Given the description of an element on the screen output the (x, y) to click on. 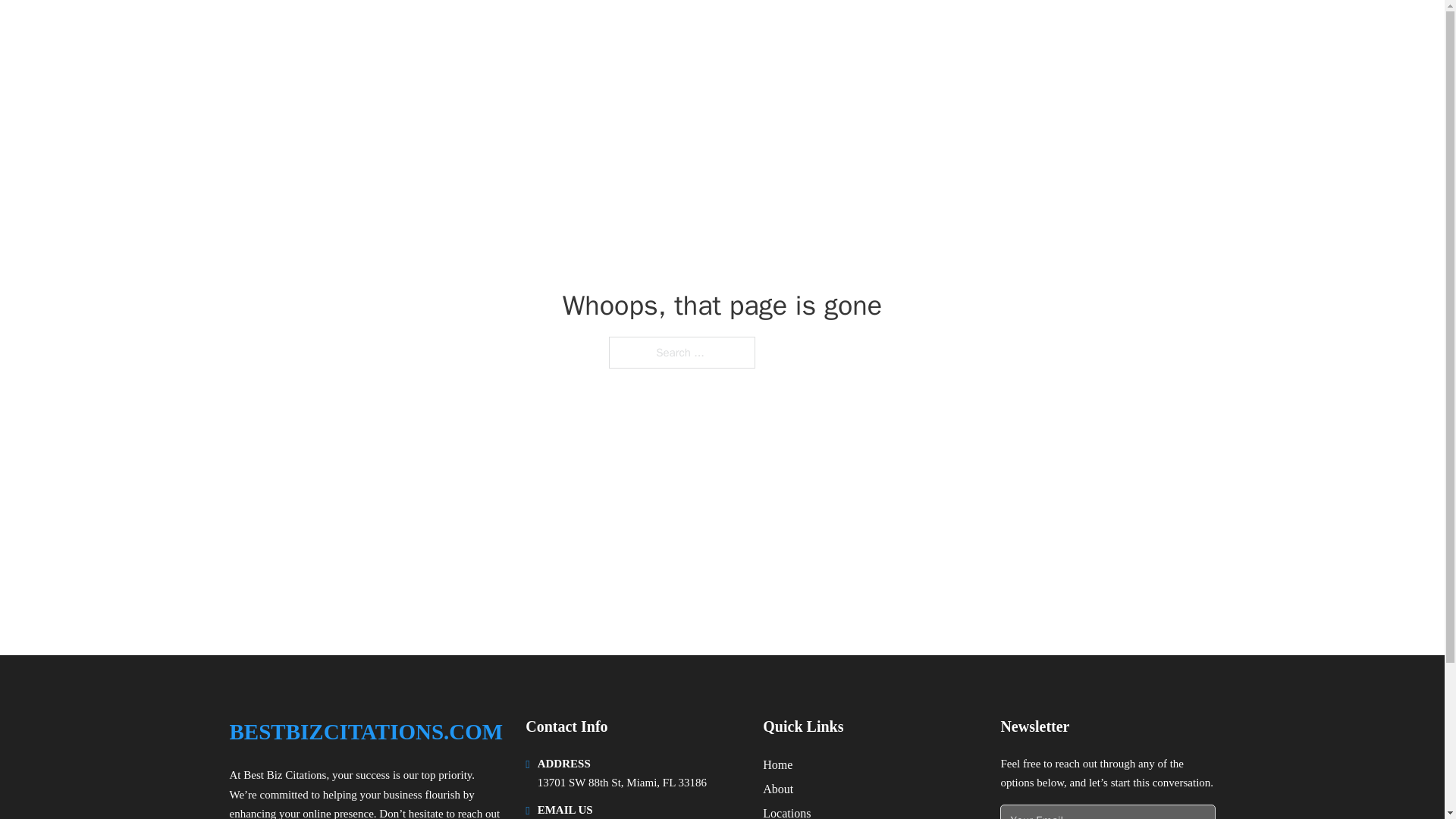
BESTBIZCITATIONS.COM (365, 732)
BESTBIZCITATIONS.COM (379, 31)
LOCATIONS (1098, 31)
HOME (1025, 31)
Locations (786, 811)
About (777, 788)
Home (777, 764)
